Given the description of an element on the screen output the (x, y) to click on. 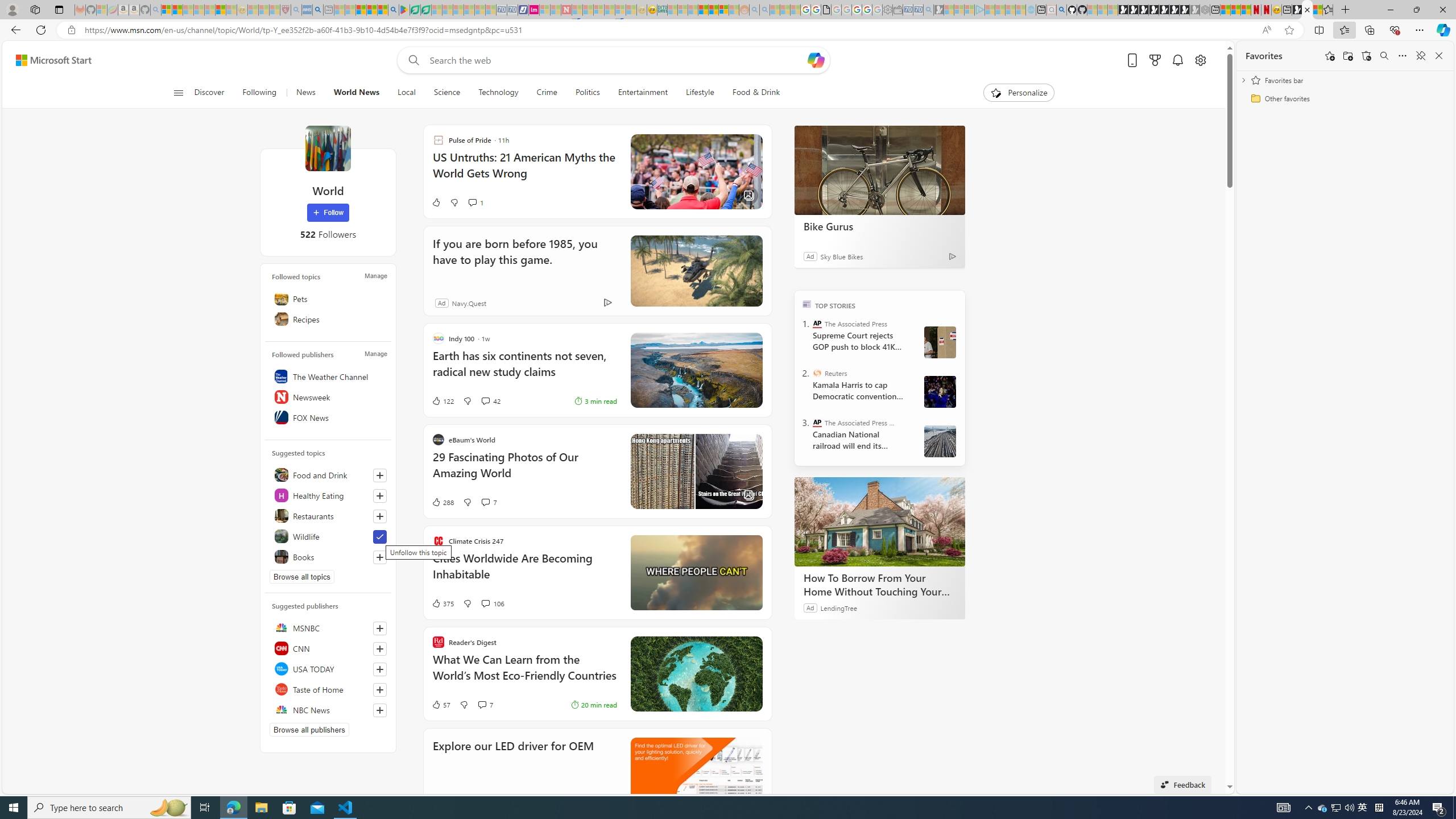
github - Search (1061, 9)
Class: hero-image (696, 572)
 Harris and Walz campaign in Wisconsin (940, 391)
